Given the description of an element on the screen output the (x, y) to click on. 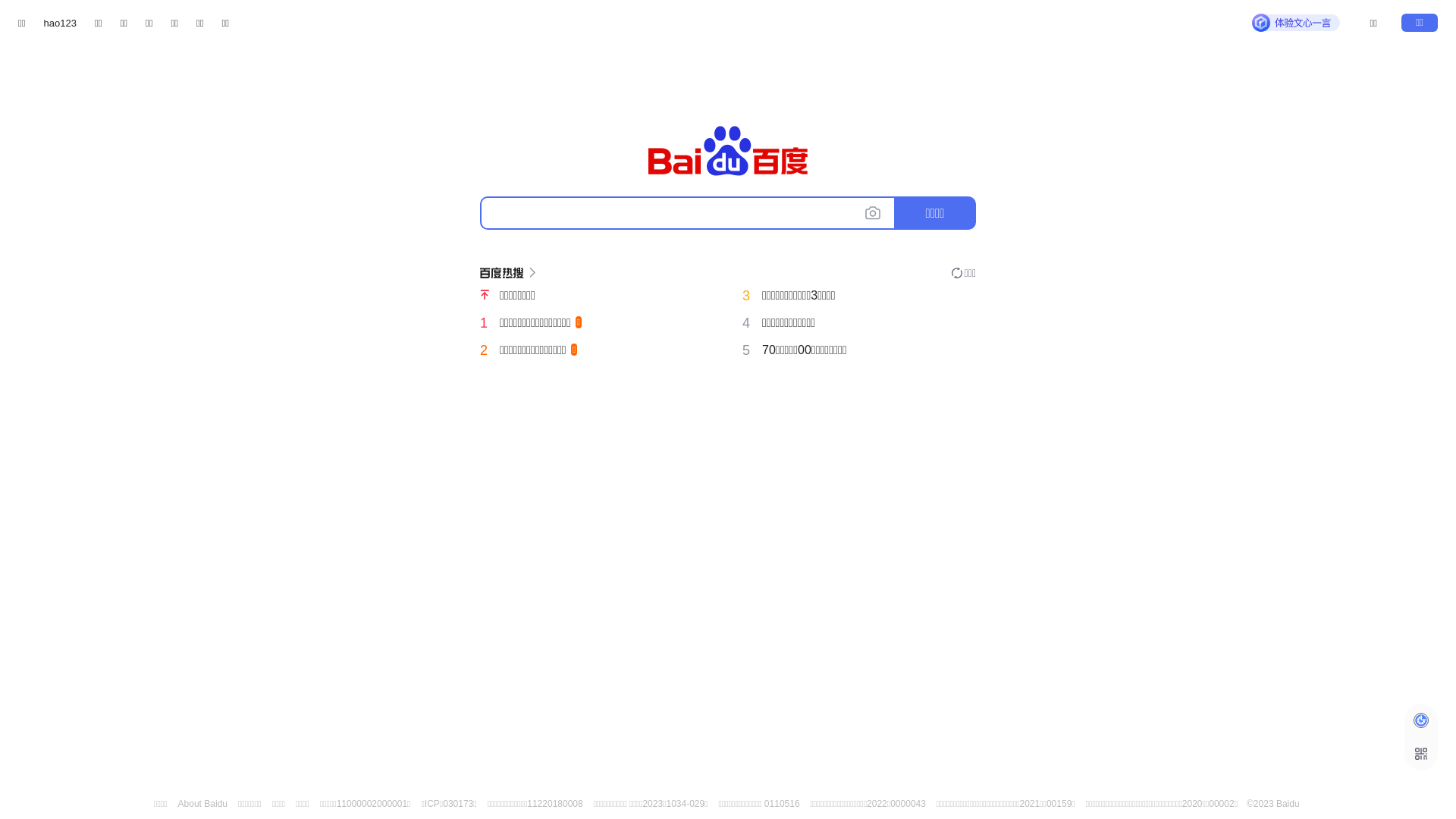
hao123 Element type: text (59, 22)
About Baidu Element type: text (202, 803)
